Given the description of an element on the screen output the (x, y) to click on. 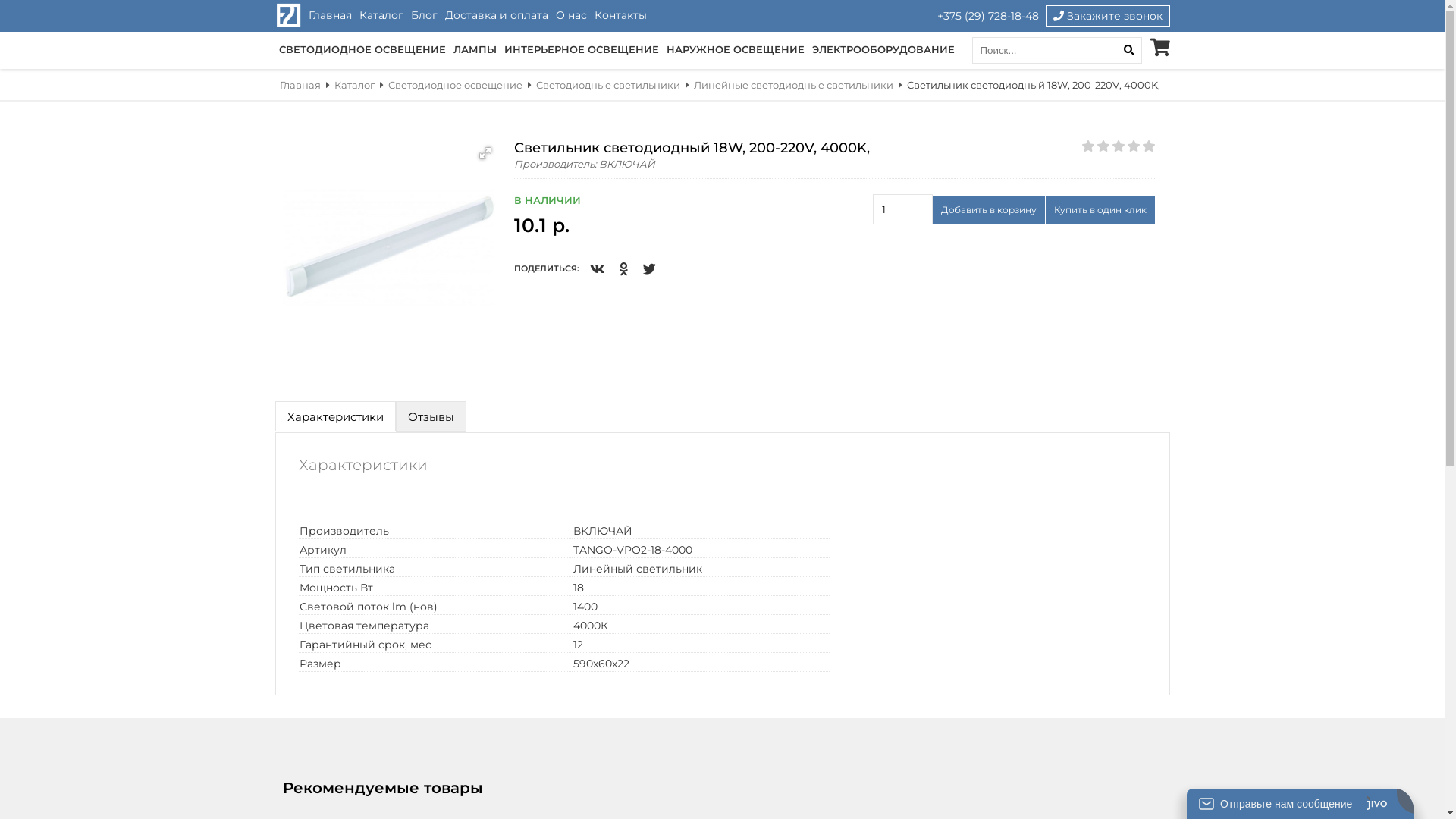
0 Element type: hover (1117, 145)
Twitter Element type: hover (649, 268)
+375 (29) 728-18-48 Element type: text (986, 15)
